Given the description of an element on the screen output the (x, y) to click on. 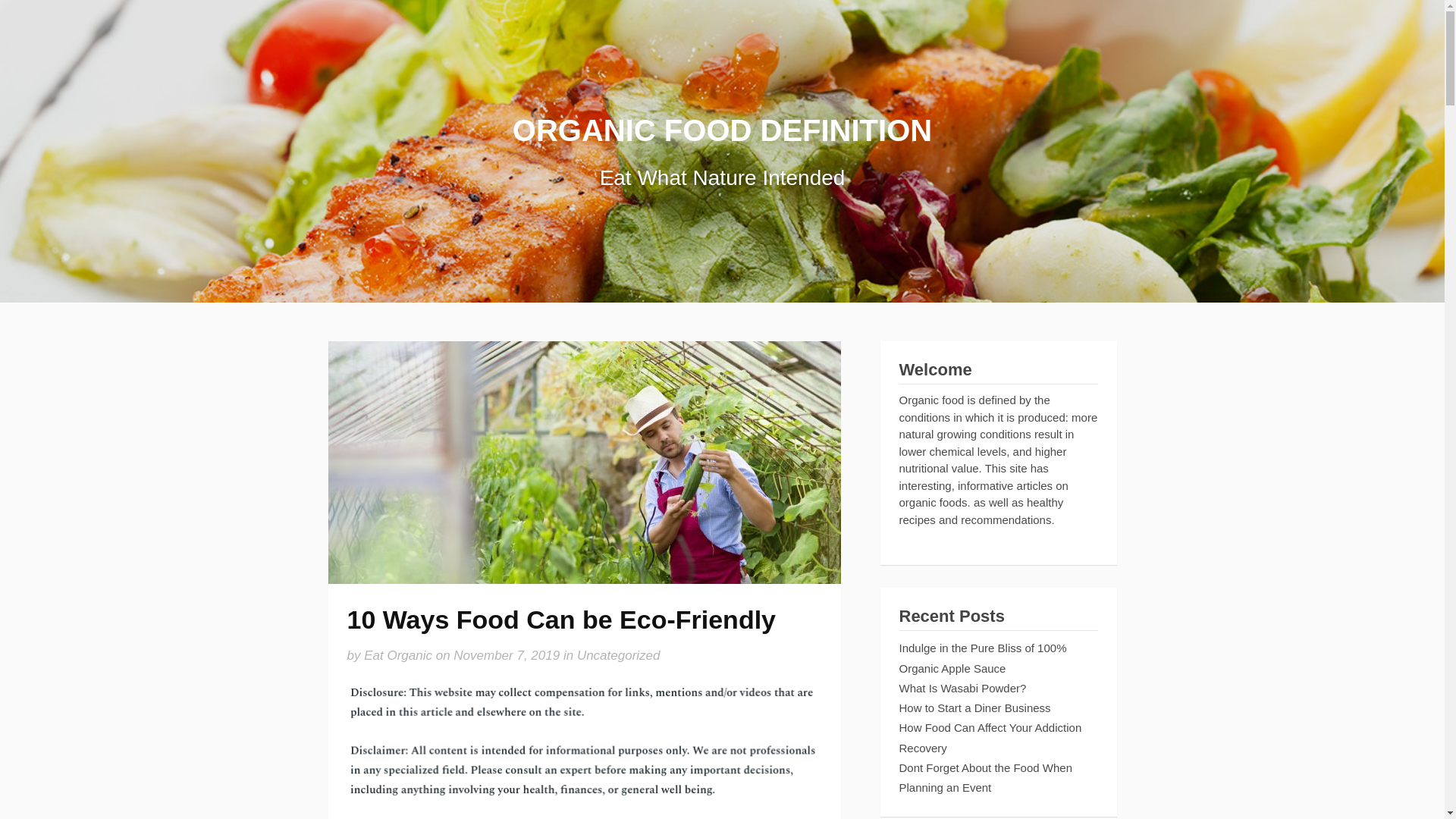
Dont Forget About the Food When Planning an Event (985, 777)
November 7, 2019 (505, 655)
Uncategorized (618, 655)
How to Start a Diner Business (975, 707)
Eat Organic (398, 655)
How Food Can Affect Your Addiction Recovery (990, 737)
What Is Wasabi Powder? (962, 687)
ORGANIC FOOD DEFINITION (721, 130)
